Given the description of an element on the screen output the (x, y) to click on. 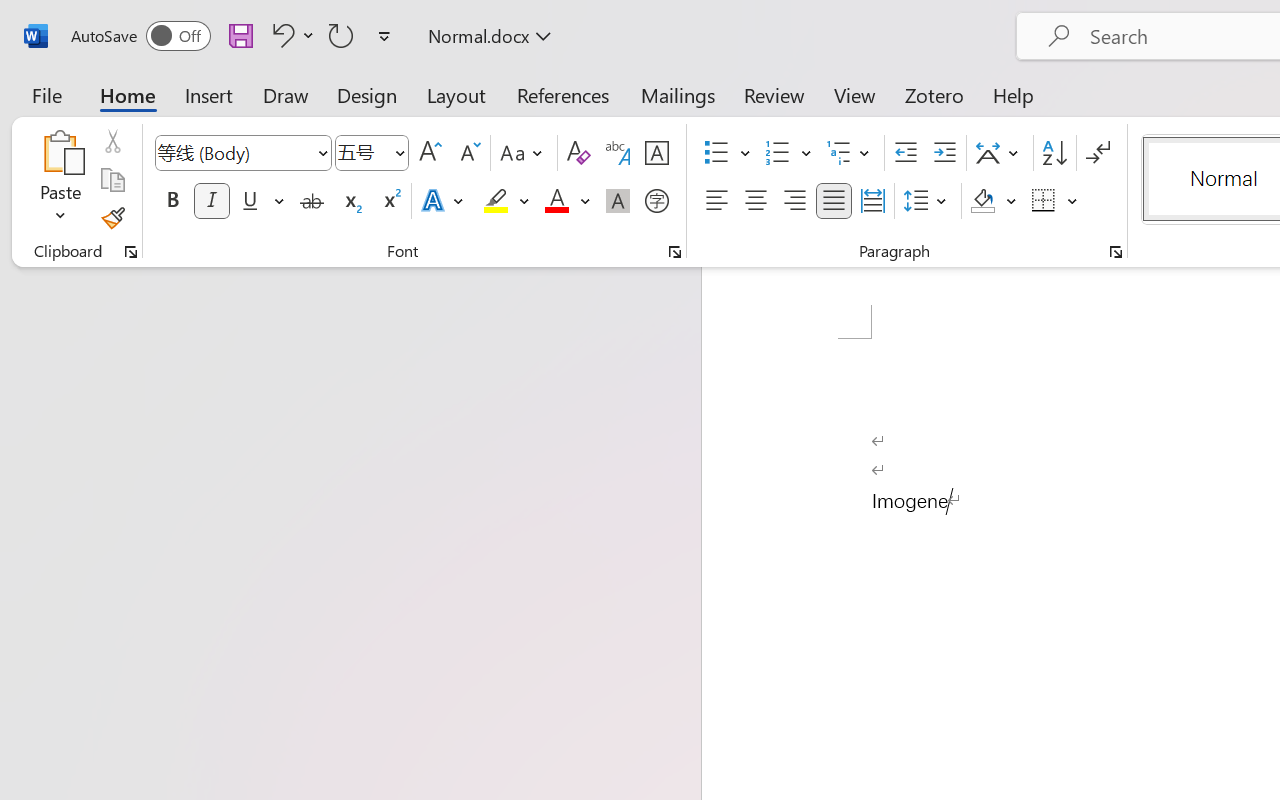
Distributed (872, 201)
Sort... (1054, 153)
Repeat Italic (341, 35)
Phonetic Guide... (618, 153)
Change Case (524, 153)
Paragraph... (1115, 252)
Multilevel List (850, 153)
Align Left (716, 201)
Copy (112, 179)
